Given the description of an element on the screen output the (x, y) to click on. 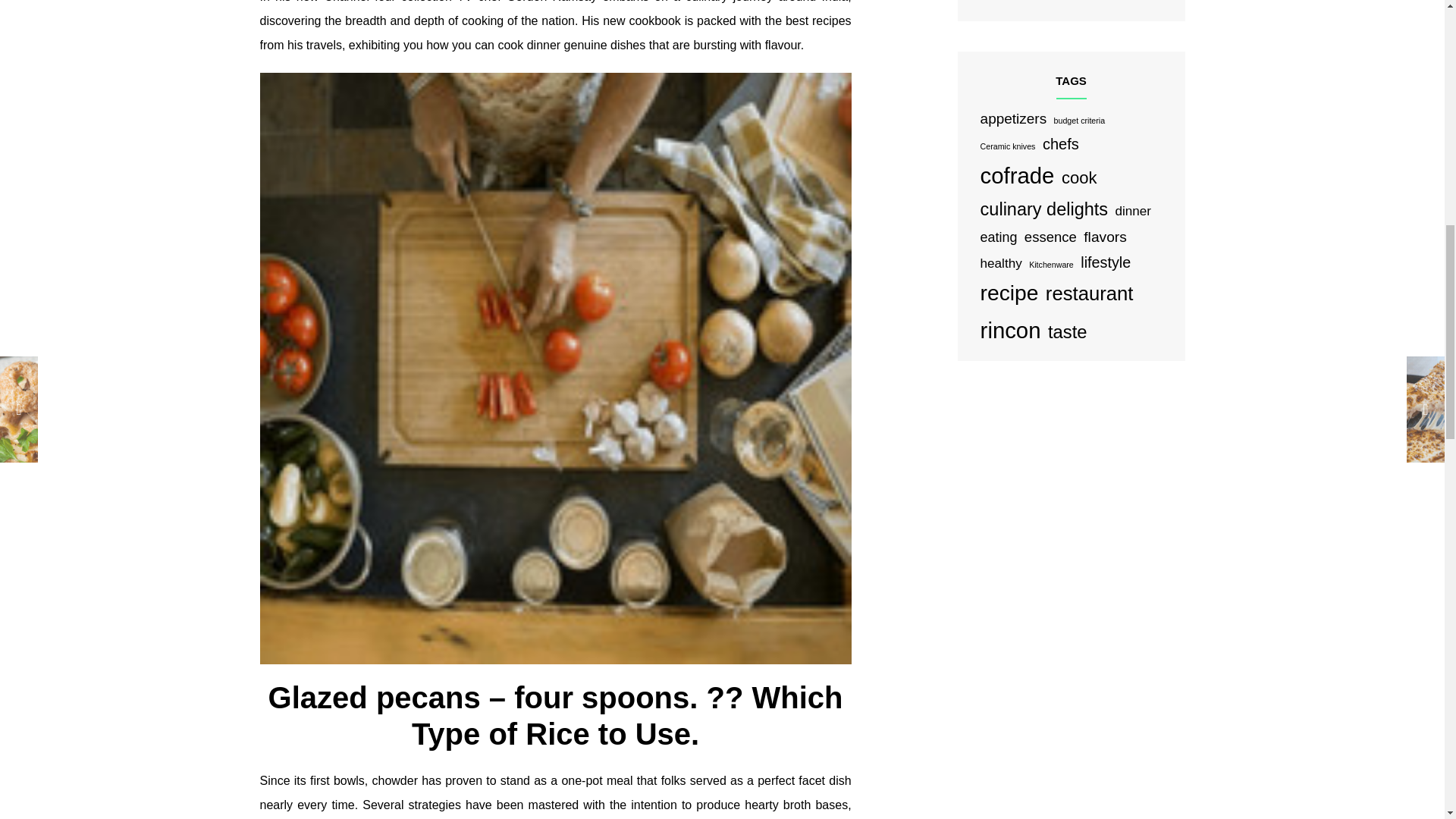
cofrade (1016, 175)
Ceramic knives (1007, 146)
appetizers (1012, 119)
budget criteria (1079, 120)
chefs (1060, 144)
cook (1079, 177)
